Given the description of an element on the screen output the (x, y) to click on. 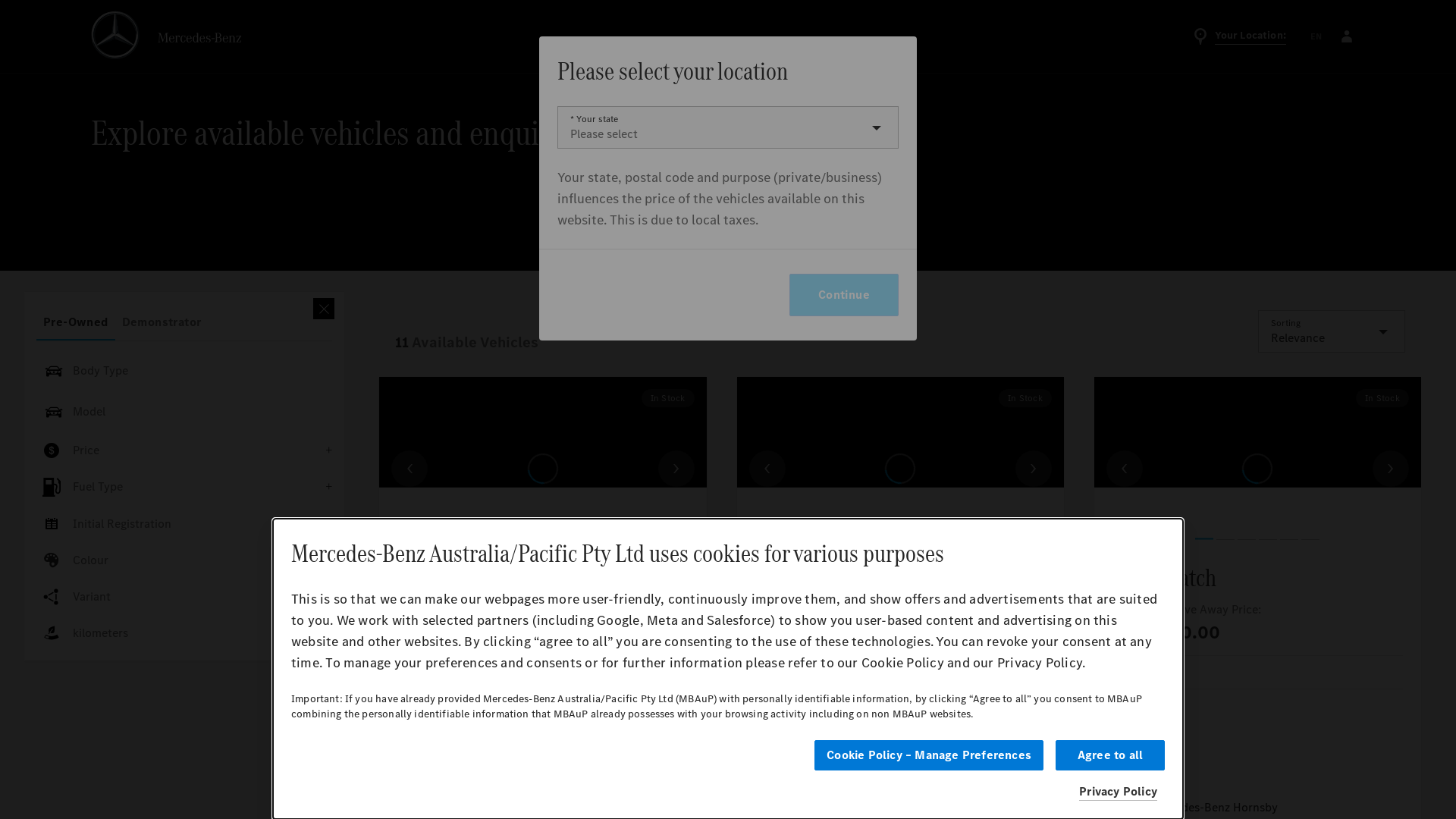
Pre-Owned Element type: text (75, 322)
EN Element type: text (1316, 36)
Continue Element type: text (843, 294)
Demonstrator Element type: text (161, 322)
Your Location: Element type: text (1239, 36)
